Given the description of an element on the screen output the (x, y) to click on. 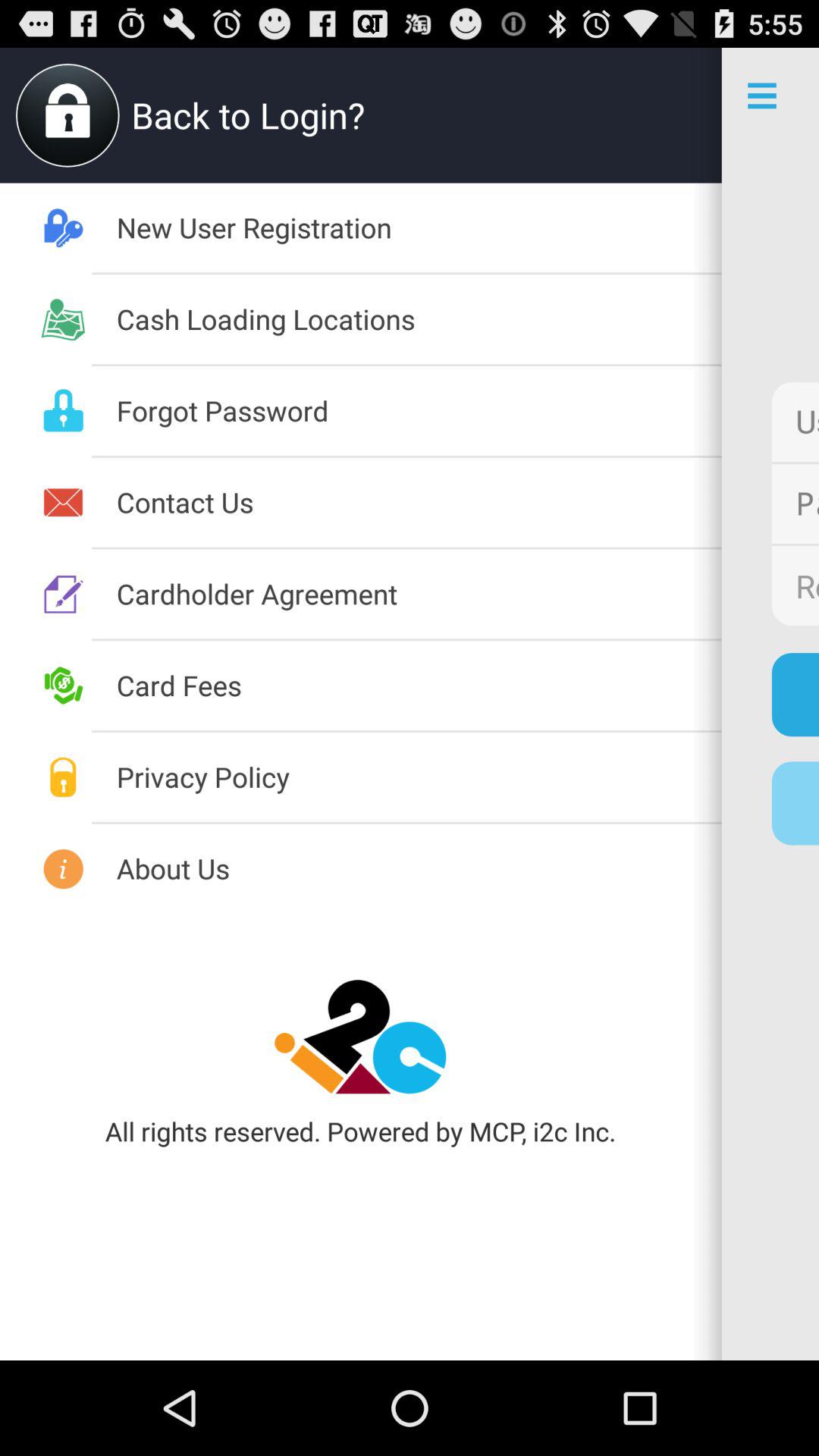
swipe until the cash loading locations (418, 318)
